Given the description of an element on the screen output the (x, y) to click on. 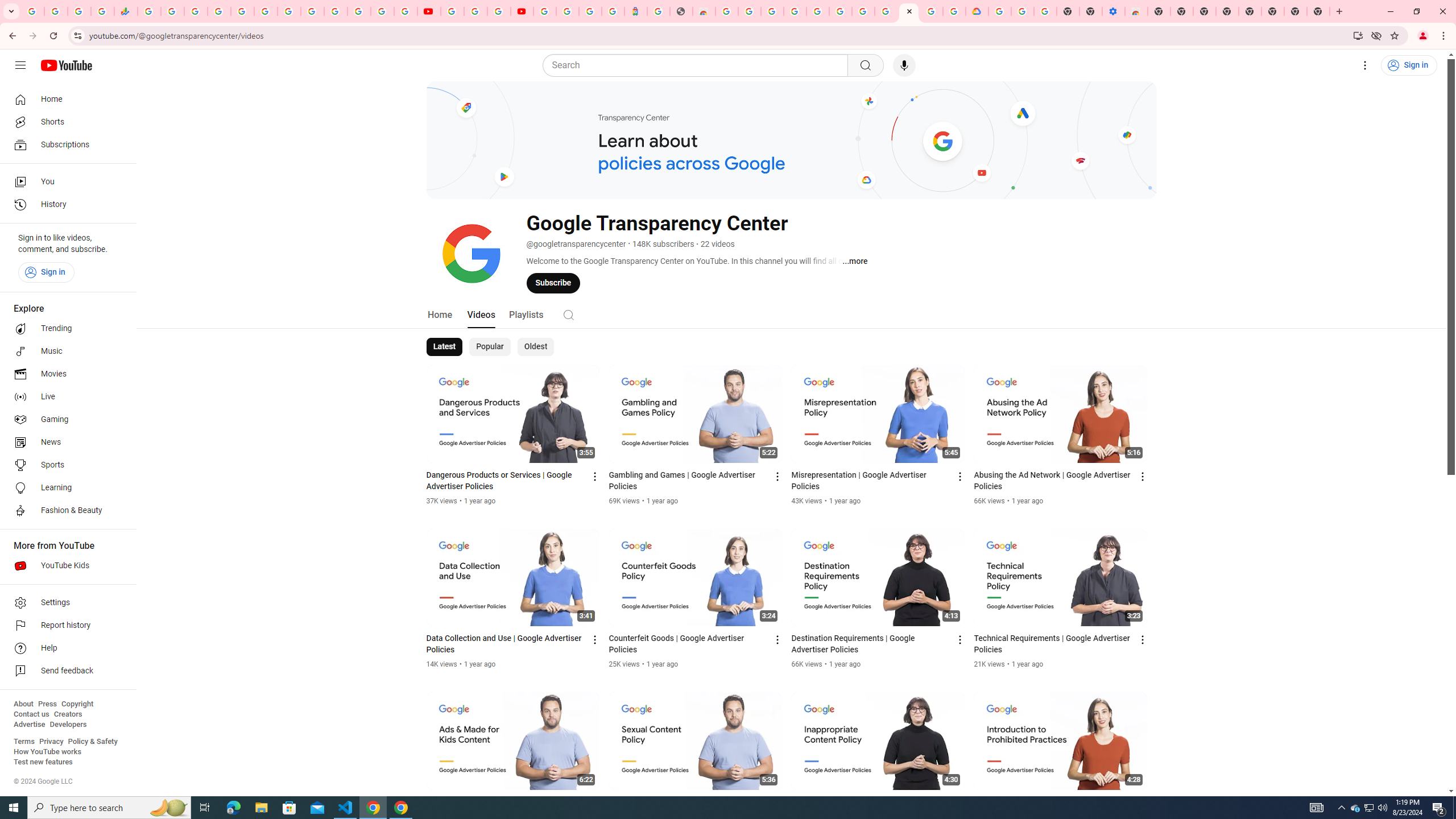
Atour Hotel - Google hotels (635, 11)
YouTube Kids (64, 565)
Google Account Help (475, 11)
Google Account Help (863, 11)
Policy & Safety (91, 741)
Ad Settings (794, 11)
Sign in - Google Accounts (999, 11)
Send feedback (64, 671)
